Given the description of an element on the screen output the (x, y) to click on. 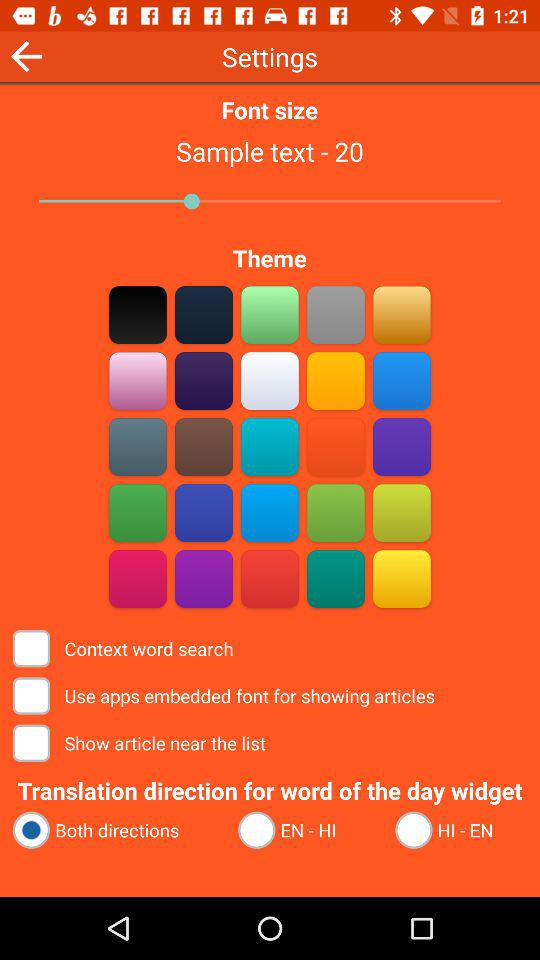
go to theme (137, 446)
